Given the description of an element on the screen output the (x, y) to click on. 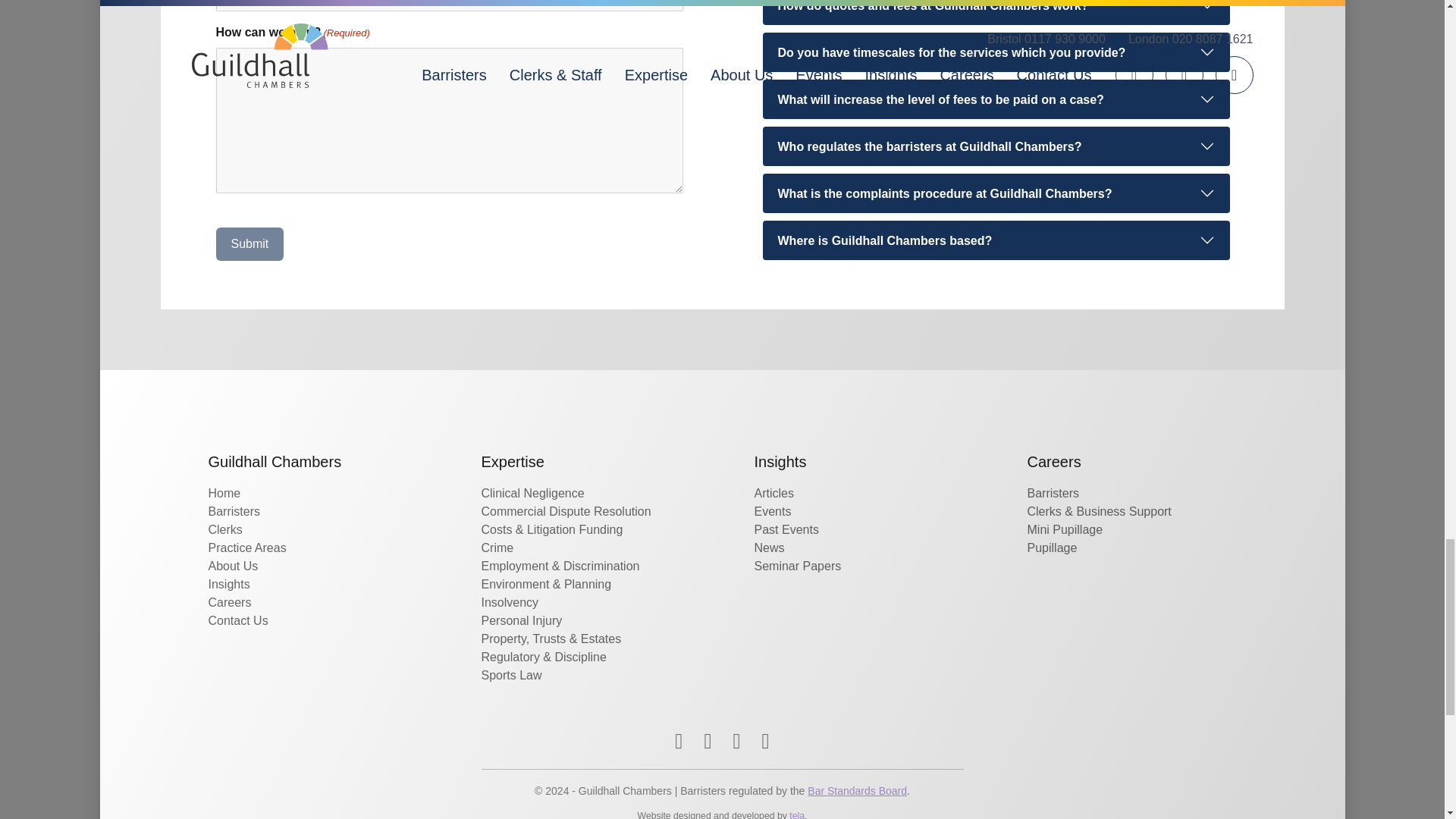
Submit (249, 244)
